Given the description of an element on the screen output the (x, y) to click on. 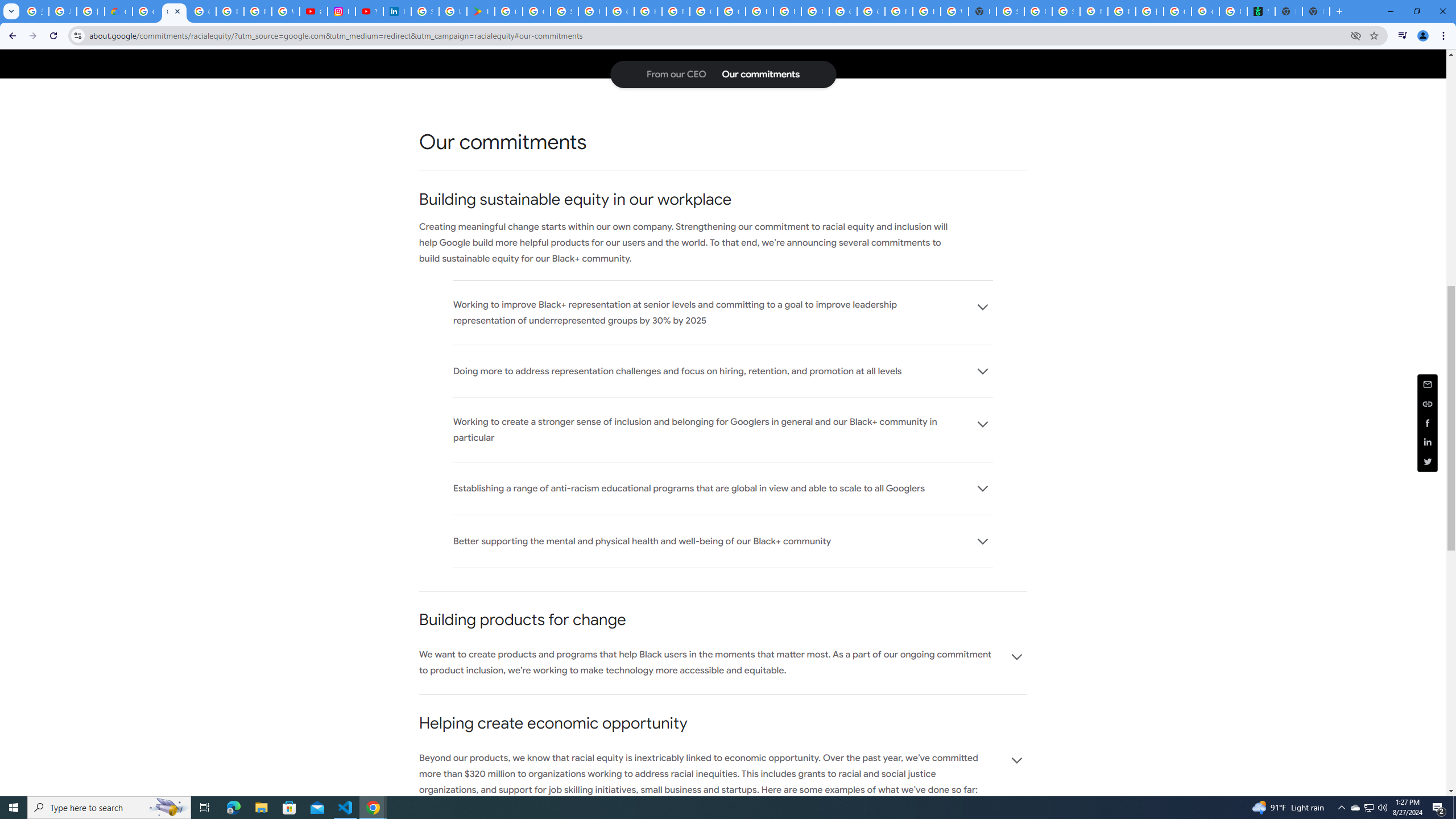
#nbabasketballhighlights - YouTube (313, 11)
Our commitments: Jump to page section (760, 73)
Share this page (Copy) (1427, 403)
Share this page (Email) (1427, 383)
How do I create a new Google Account? - Google Account Help (647, 11)
Share this page (LinkedIn) (1427, 442)
From our CEO: Jump to page section (676, 73)
